Given the description of an element on the screen output the (x, y) to click on. 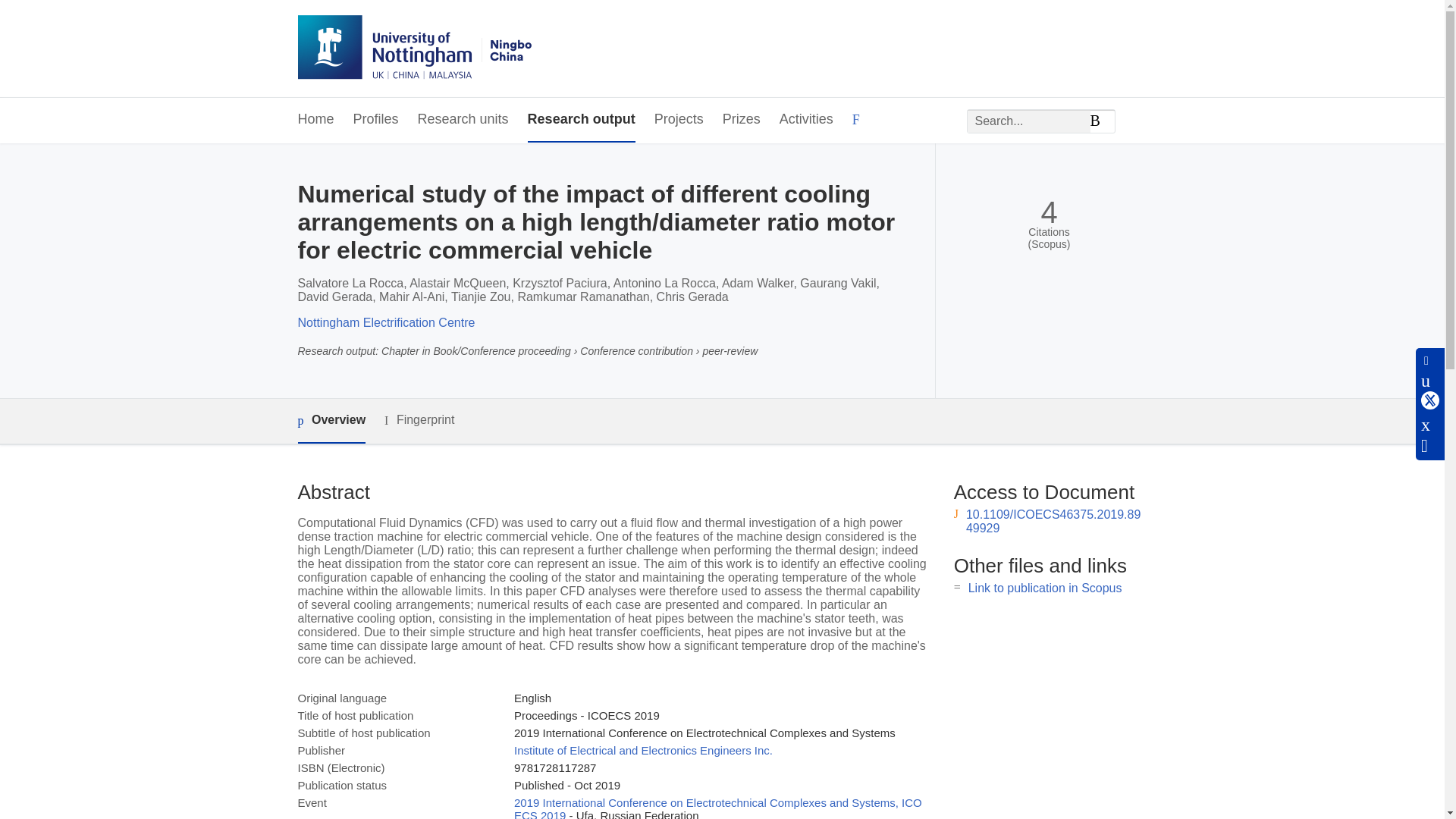
Research output (580, 119)
Link to publication in Scopus (1045, 587)
Profiles (375, 119)
Fingerprint (419, 420)
Research units (462, 119)
Institute of Electrical and Electronics Engineers Inc. (643, 749)
University of Nottingham Ningbo China Home (414, 48)
Overview (331, 420)
Projects (678, 119)
Activities (805, 119)
Nottingham Electrification Centre (385, 322)
